Given the description of an element on the screen output the (x, y) to click on. 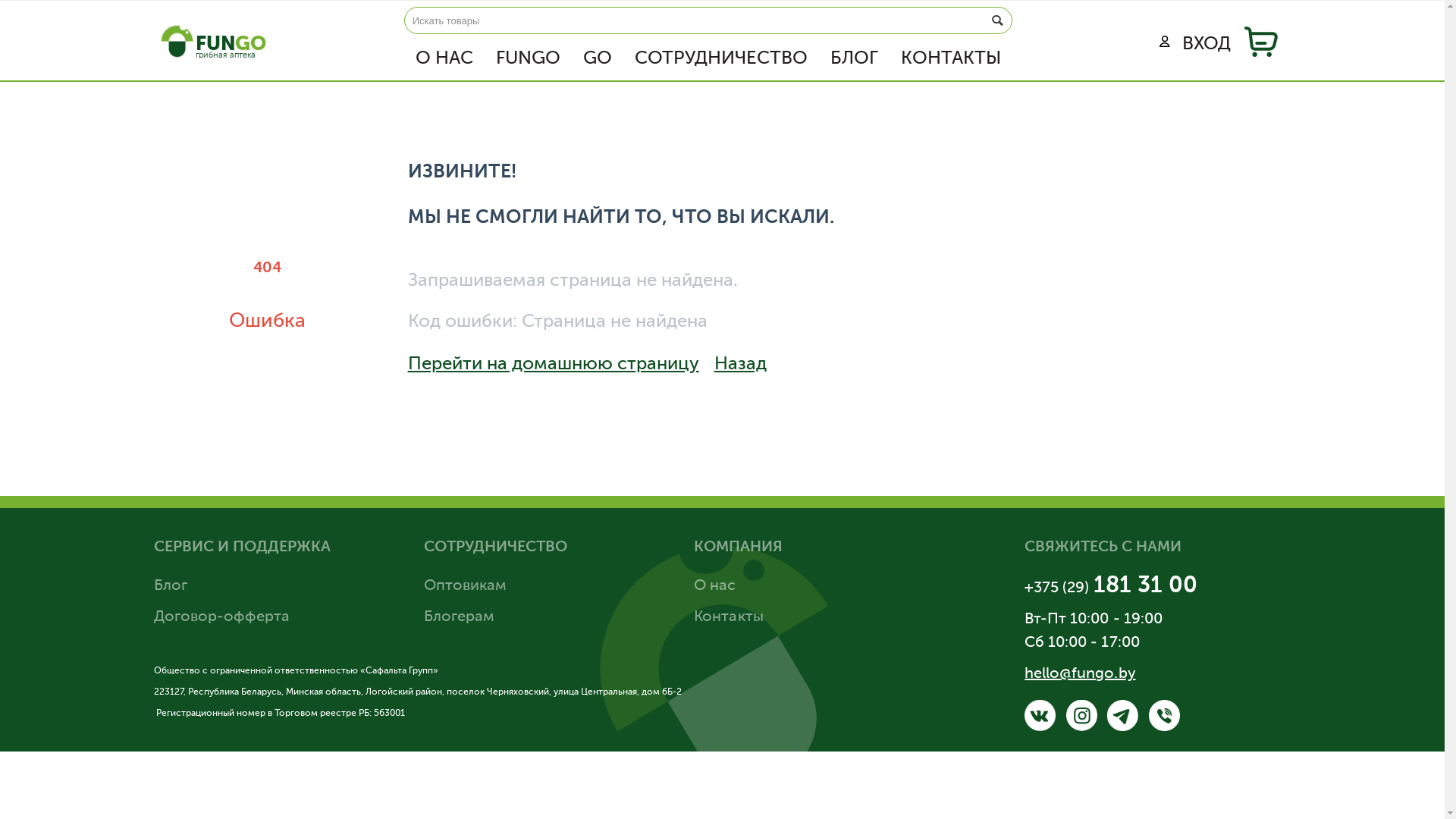
FUNGO Element type: text (527, 58)
hello@fungo.by Element type: text (1079, 673)
181 31 00 Element type: text (1145, 585)
+375 (29) Element type: text (1058, 588)
GO Element type: text (597, 58)
